Given the description of an element on the screen output the (x, y) to click on. 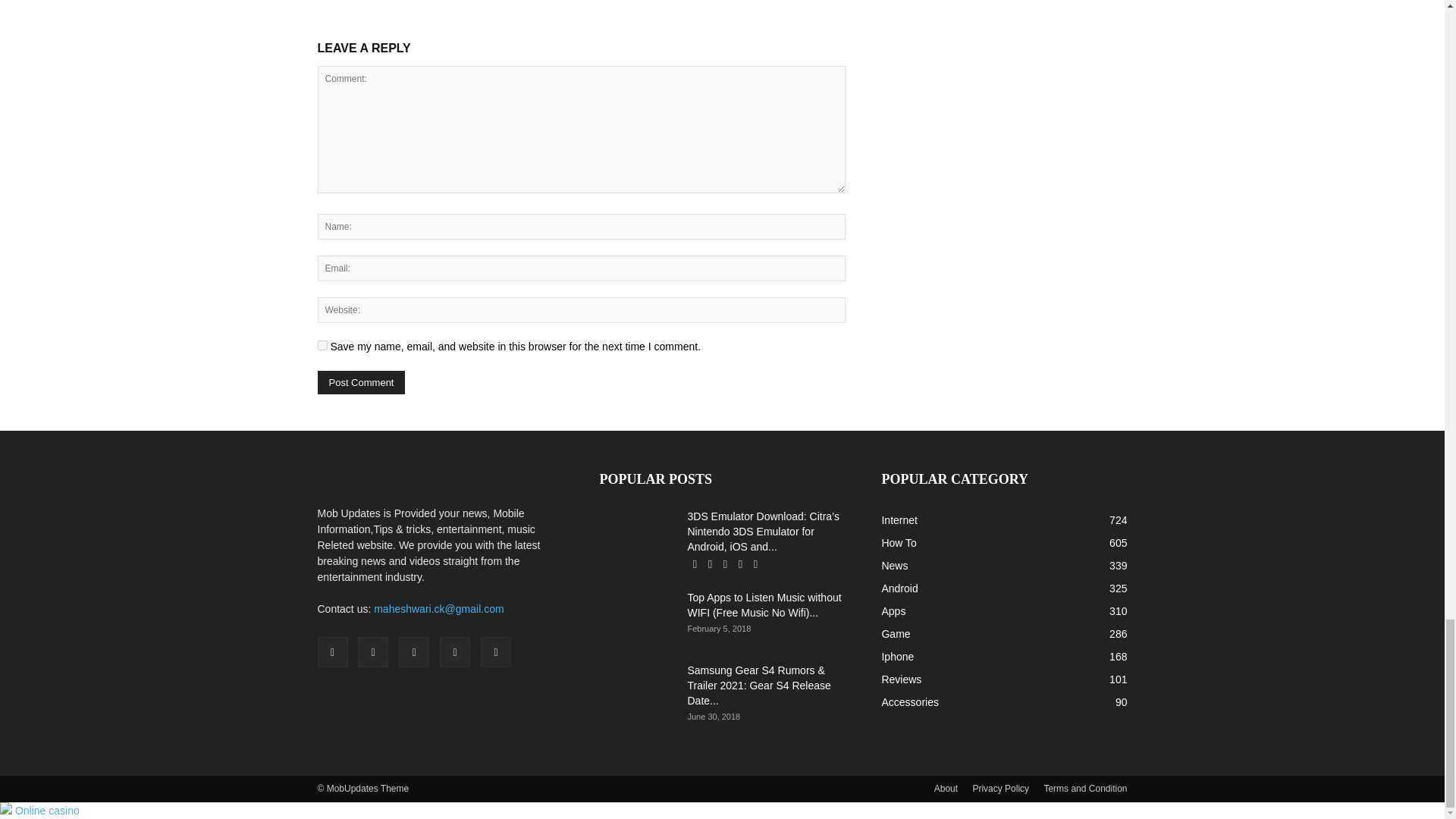
Post Comment (360, 382)
yes (321, 345)
